Given the description of an element on the screen output the (x, y) to click on. 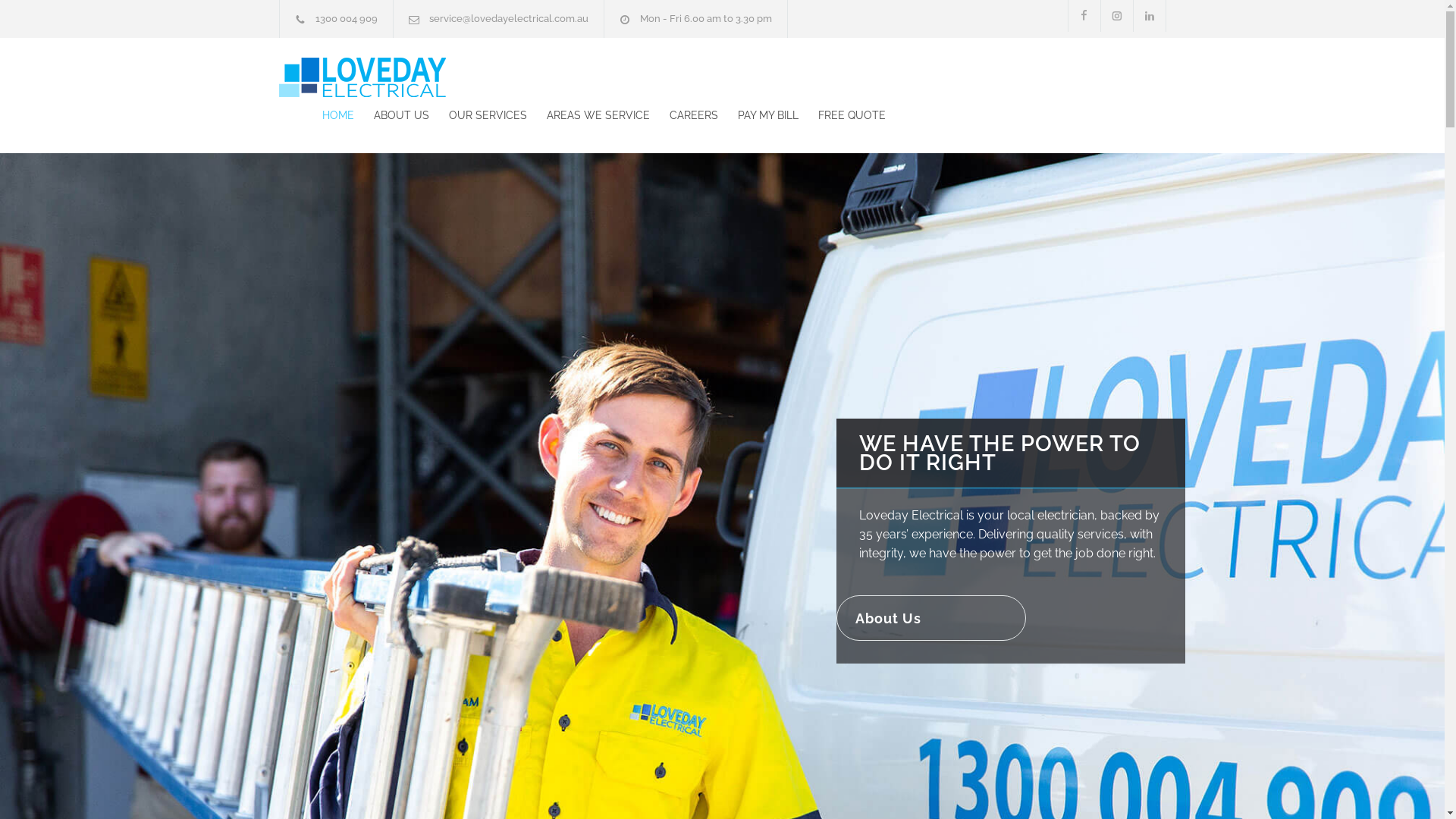
PAY MY BILL Element type: text (757, 115)
CAREERS Element type: text (683, 115)
AREAS WE SERVICE Element type: text (587, 115)
HOME Element type: text (337, 115)
service@lovedayelectrical.com.au Element type: text (508, 18)
OUR SERVICES Element type: text (478, 115)
Loveday Electrical Element type: hover (419, 77)
1300 004 909 Element type: text (346, 18)
FREE QUOTE Element type: text (840, 115)
About Us Element type: text (930, 617)
ABOUT US Element type: text (390, 115)
